Given the description of an element on the screen output the (x, y) to click on. 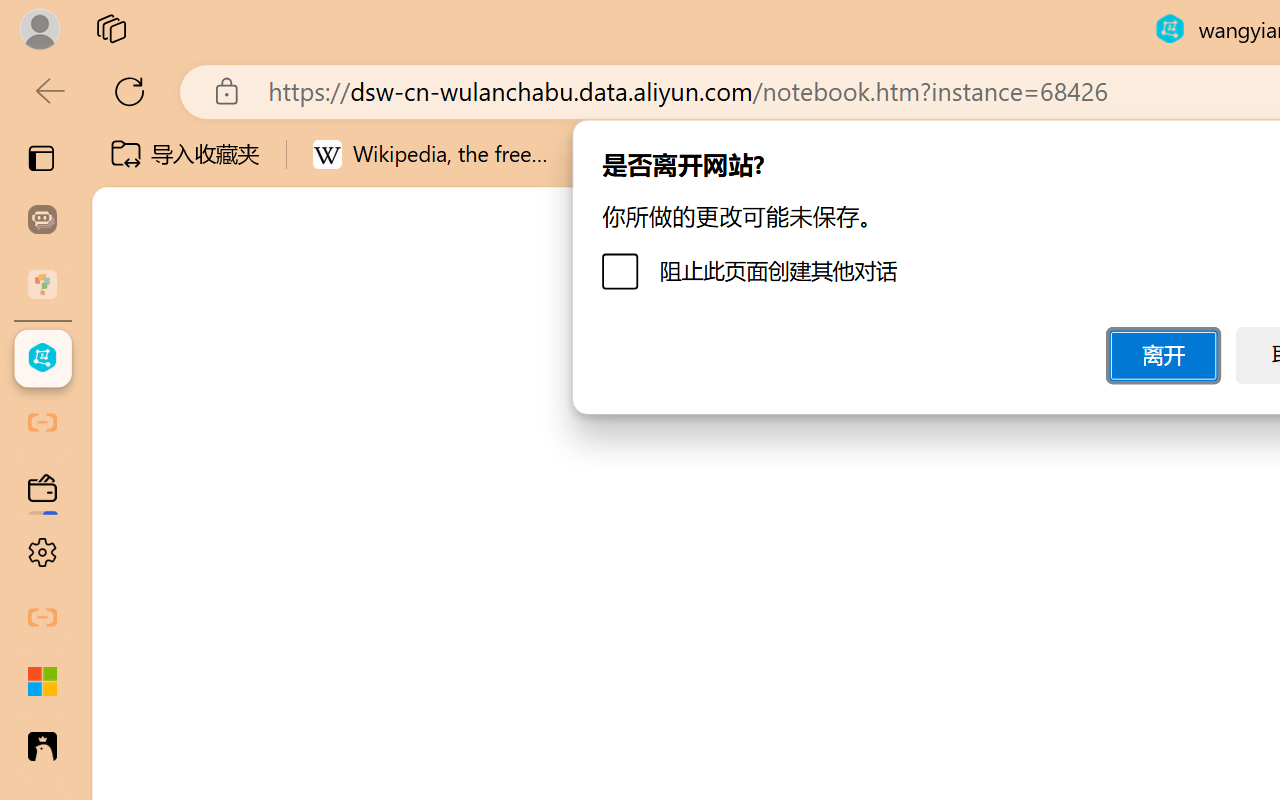
Explorer actions (390, 358)
Views and More Actions... (442, 357)
Source Control (Ctrl+Shift+G) (135, 604)
wangyian_dsw - DSW (42, 357)
Search (Ctrl+Shift+F) (135, 519)
Run and Debug (Ctrl+Shift+D) (135, 692)
Class: menubar compact overflow-menu-only inactive (135, 358)
